Given the description of an element on the screen output the (x, y) to click on. 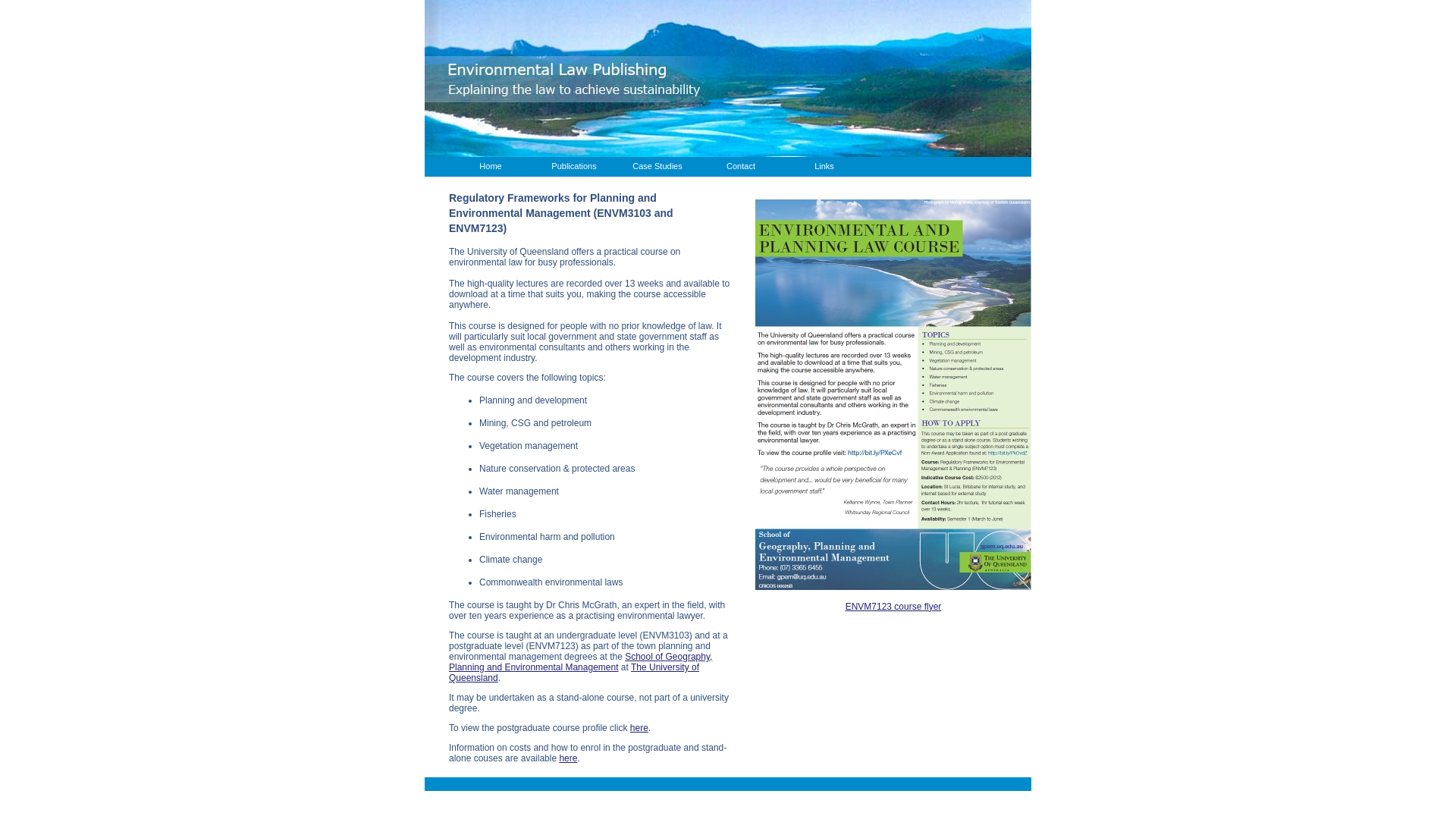
School of Geography, Planning and Environmental Management Element type: text (580, 661)
here Element type: text (567, 758)
The University of Queensland Element type: text (573, 672)
ENVM7123 course flyer Element type: text (893, 605)
here Element type: text (639, 727)
